Given the description of an element on the screen output the (x, y) to click on. 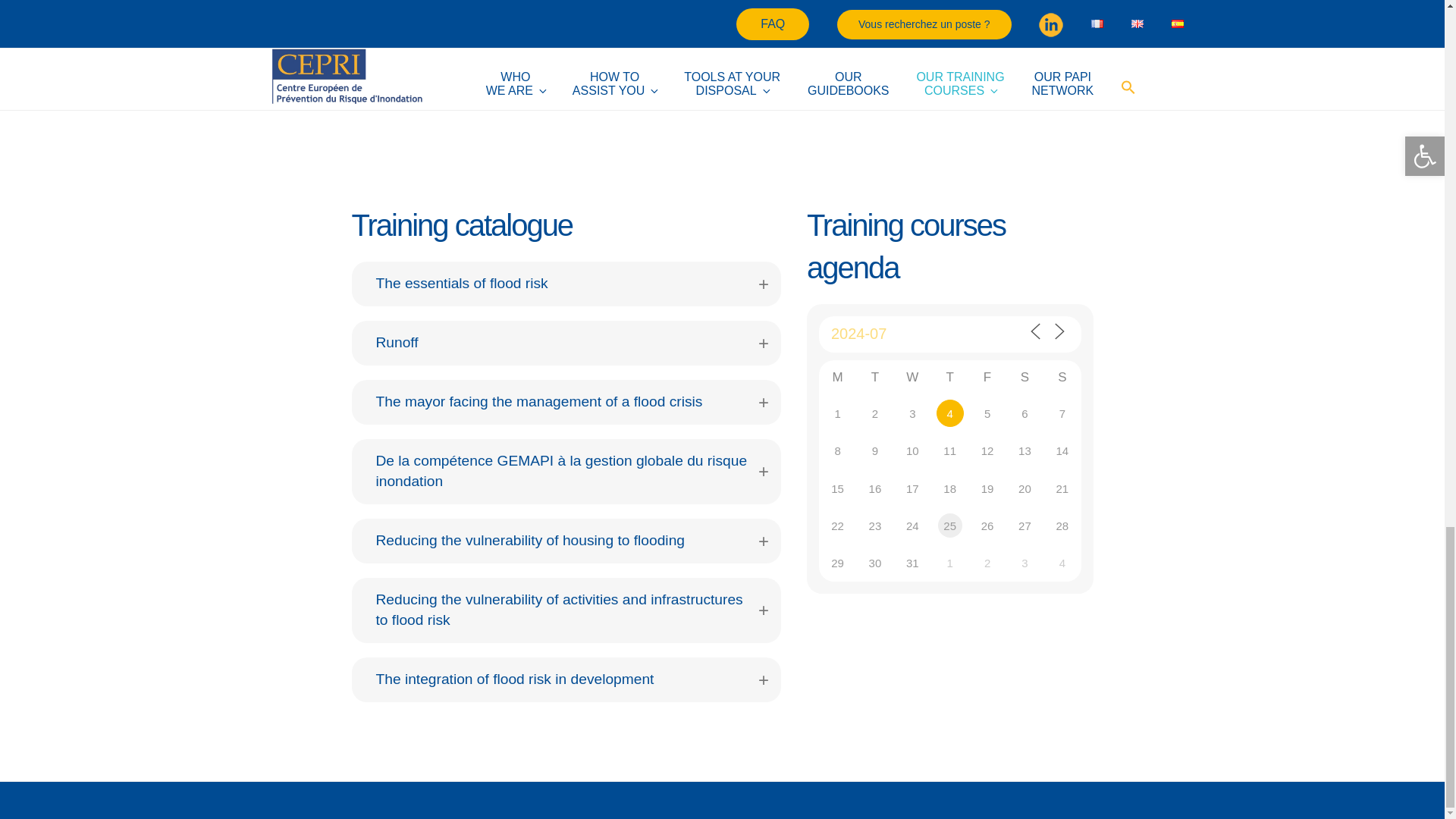
2024-07 (882, 334)
